Given the description of an element on the screen output the (x, y) to click on. 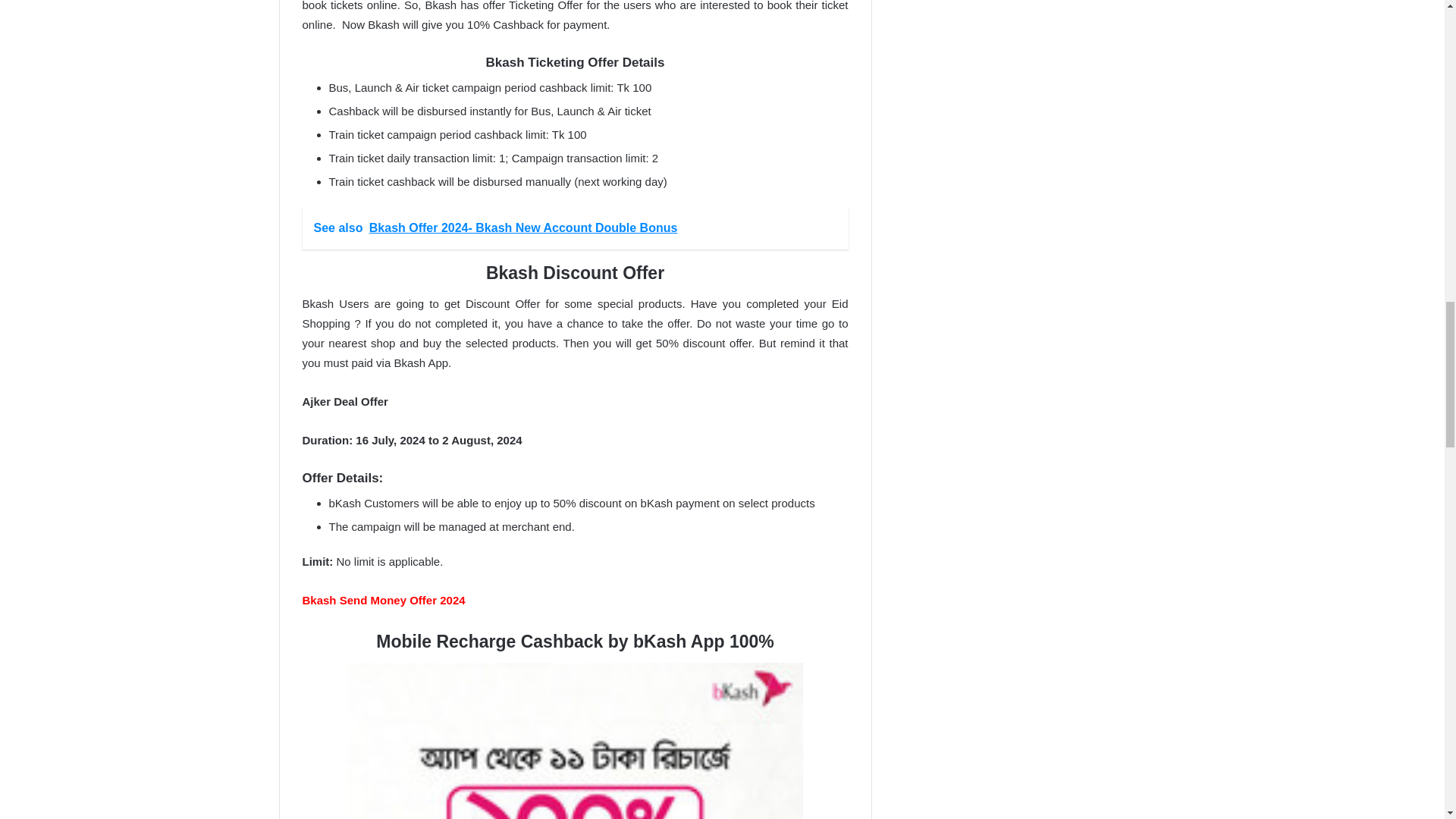
See also  Bkash Offer 2024- Bkash New Account Double Bonus (574, 228)
Bkash Send Money Offer 2024 (382, 599)
